Given the description of an element on the screen output the (x, y) to click on. 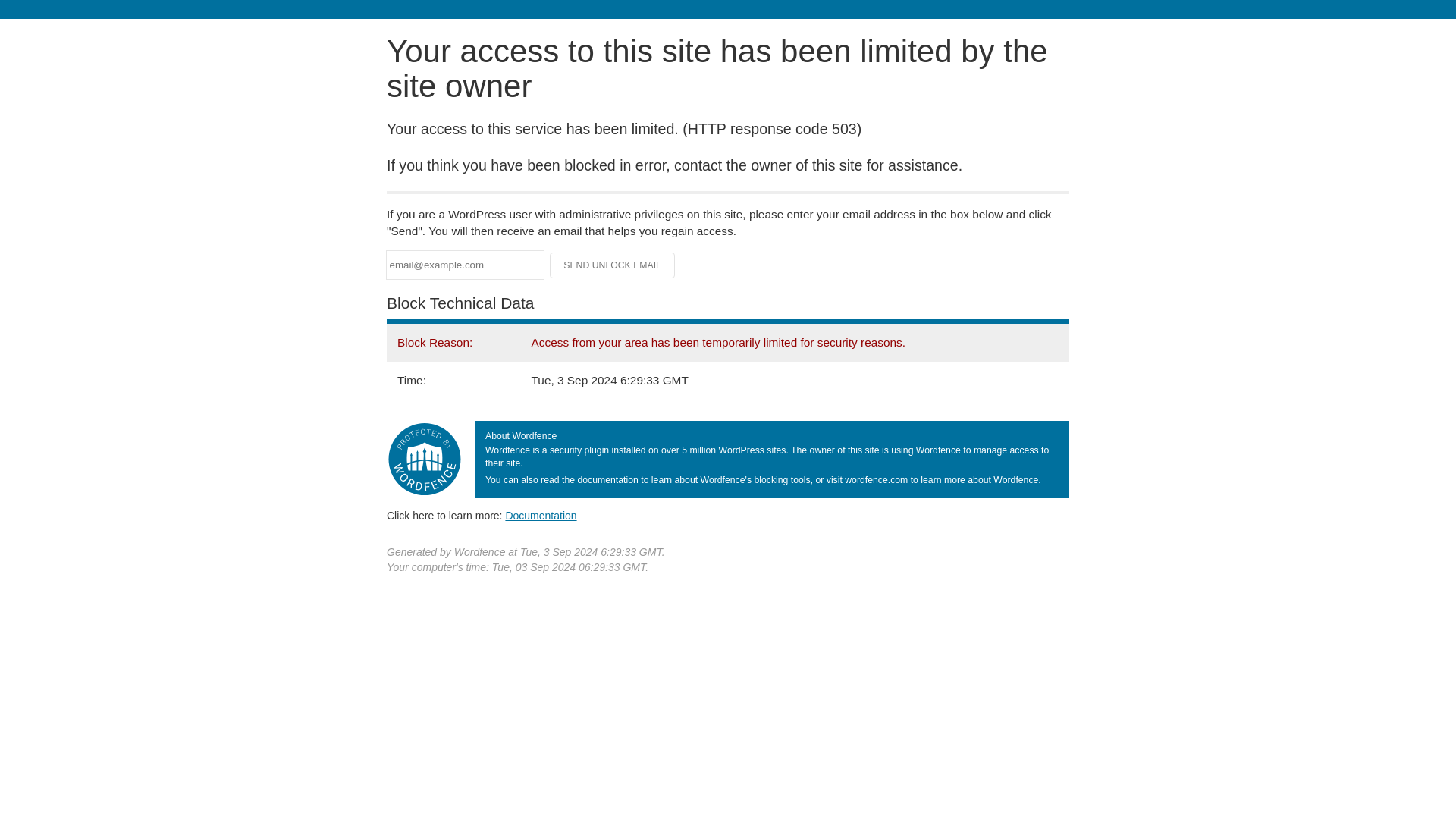
Send Unlock Email (612, 265)
Send Unlock Email (612, 265)
Documentation (540, 515)
